Given the description of an element on the screen output the (x, y) to click on. 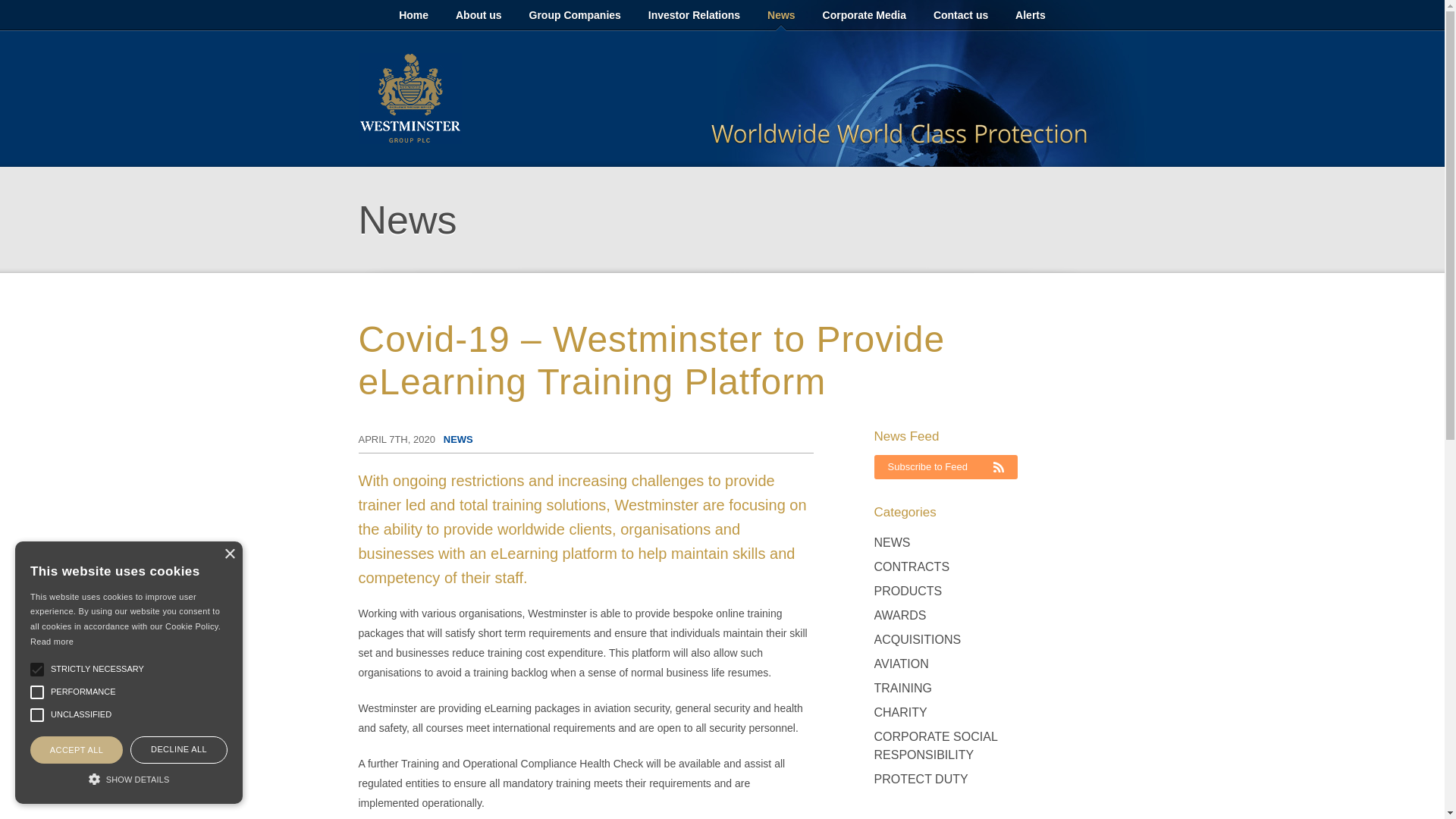
PRODUCTS (907, 591)
AVIATION (900, 663)
CORPORATE SOCIAL RESPONSIBILITY (979, 745)
CHARITY (899, 712)
Westminster Group Corporate (409, 98)
Contact us (960, 15)
Corporate Media (864, 15)
NEWS (891, 542)
Subscribe to Feed (945, 467)
News (781, 15)
TRAINING (902, 688)
CONTRACTS (911, 567)
Investor Relations (694, 15)
AWARDS (899, 615)
Group Companies (574, 15)
